Given the description of an element on the screen output the (x, y) to click on. 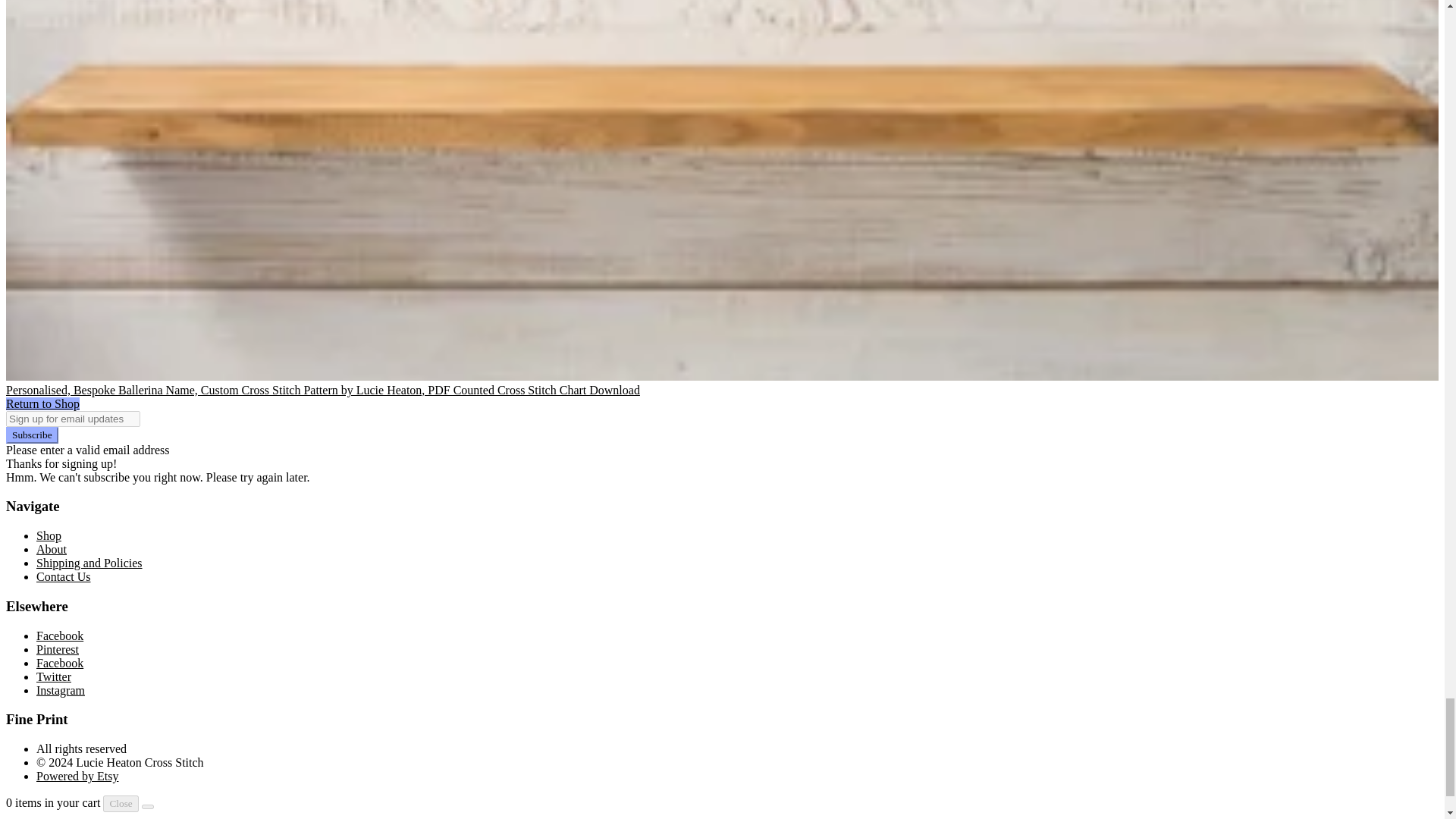
Facebook (59, 662)
Powered by Etsy (76, 775)
Close (120, 803)
Subscribe (31, 434)
Subscribe (31, 434)
Shipping and Policies (89, 562)
Return to Shop (42, 403)
Instagram (60, 689)
About (51, 549)
Shop (48, 535)
